Given the description of an element on the screen output the (x, y) to click on. 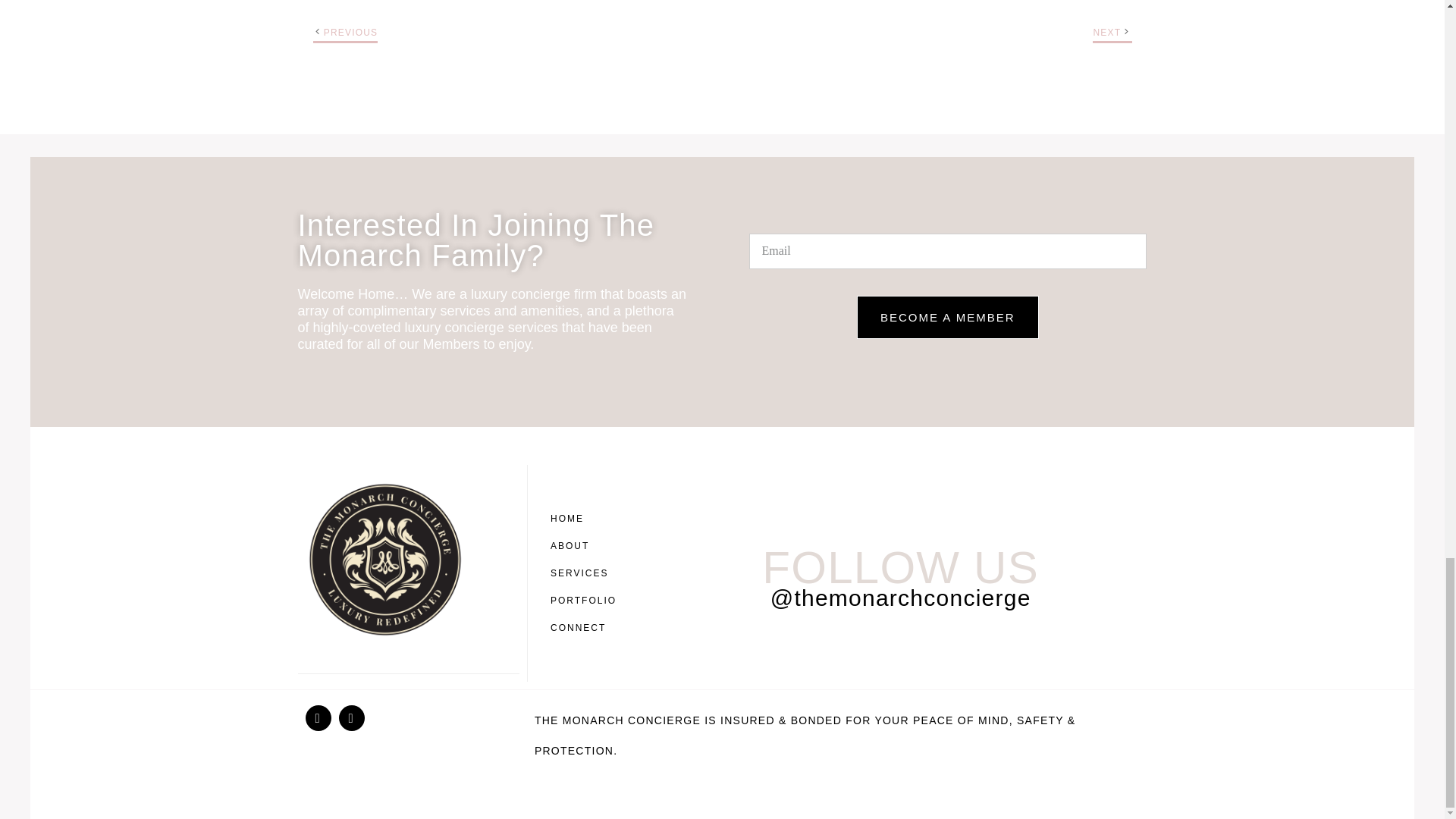
PORTFOLIO (587, 600)
BECOME A MEMBER (948, 317)
HOME (587, 518)
SERVICES (587, 573)
NEXT (1107, 32)
PREVIOUS (350, 32)
CONNECT (587, 627)
ABOUT (587, 545)
